Given the description of an element on the screen output the (x, y) to click on. 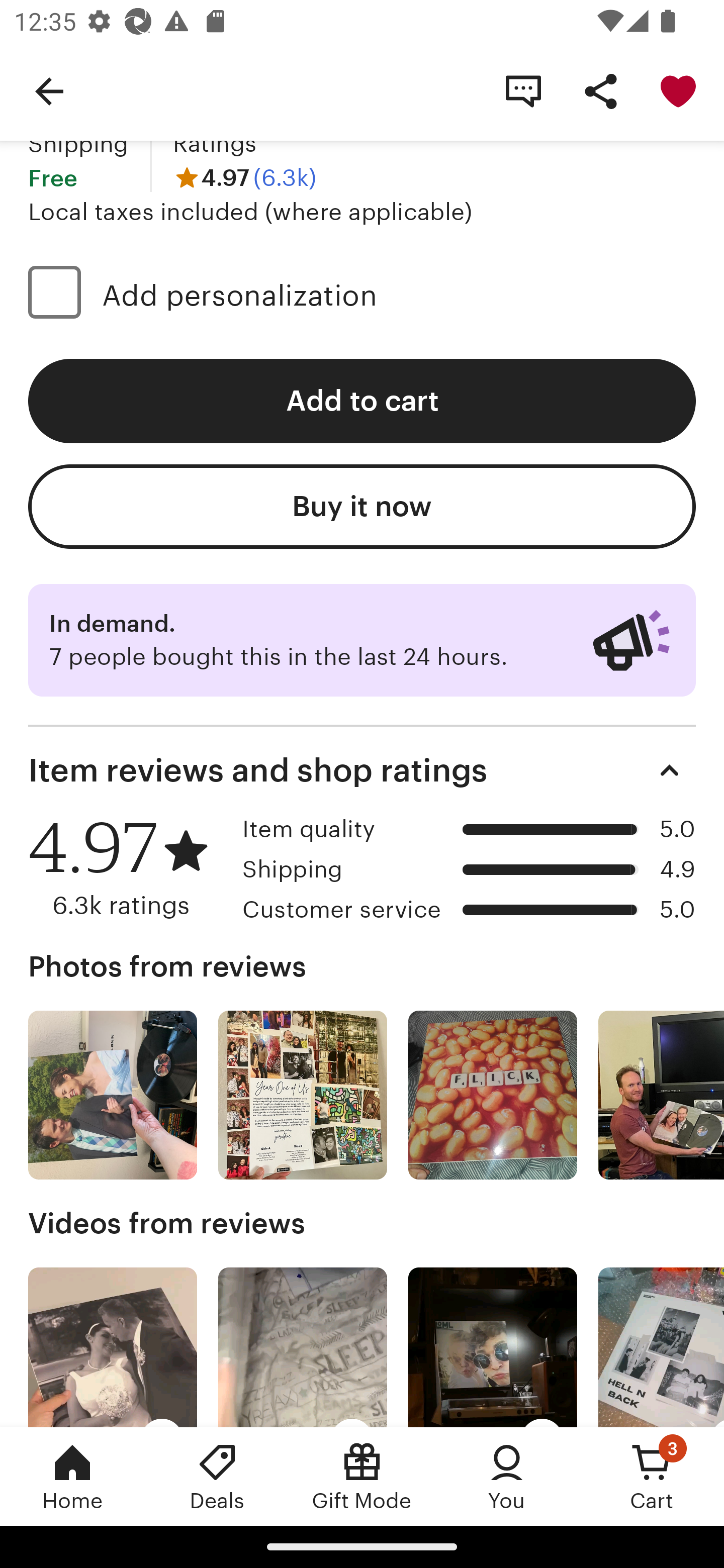
Navigate up (49, 90)
Contact shop (523, 90)
Share (600, 90)
Ratings (215, 143)
4.97 (6.3k) (245, 177)
Add personalization (optional) Add personalization (362, 295)
Add to cart (361, 401)
Buy it now (361, 506)
Item reviews and shop ratings (362, 770)
4.97 6.3k ratings (128, 868)
Photo from review (112, 1095)
Photo from review (302, 1095)
Photo from review (492, 1095)
Photo from review (661, 1095)
Deals (216, 1475)
Gift Mode (361, 1475)
You (506, 1475)
Cart, 3 new notifications Cart (651, 1475)
